Given the description of an element on the screen output the (x, y) to click on. 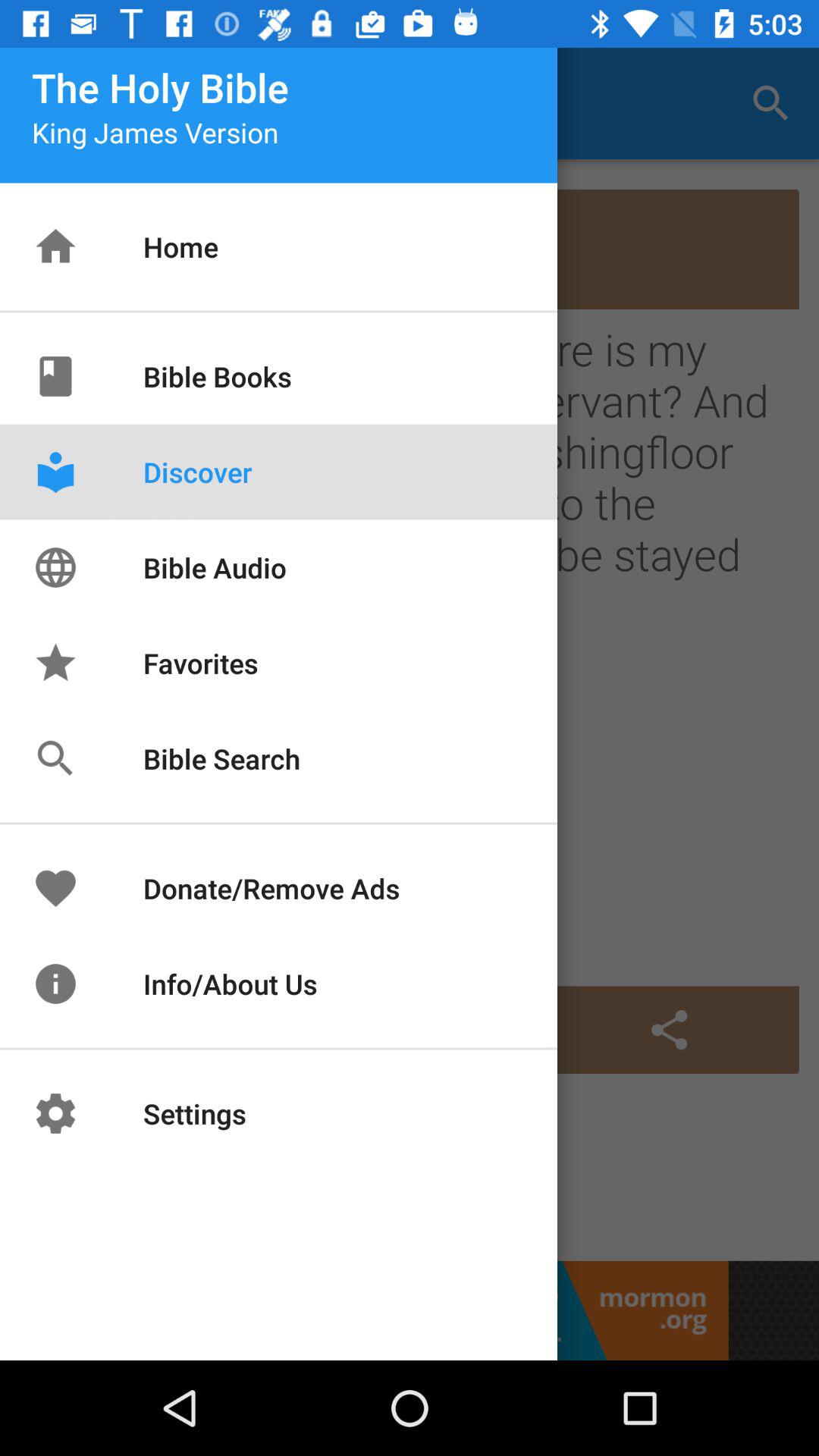
the home icon shown in the first option beside home (69, 244)
